Given the description of an element on the screen output the (x, y) to click on. 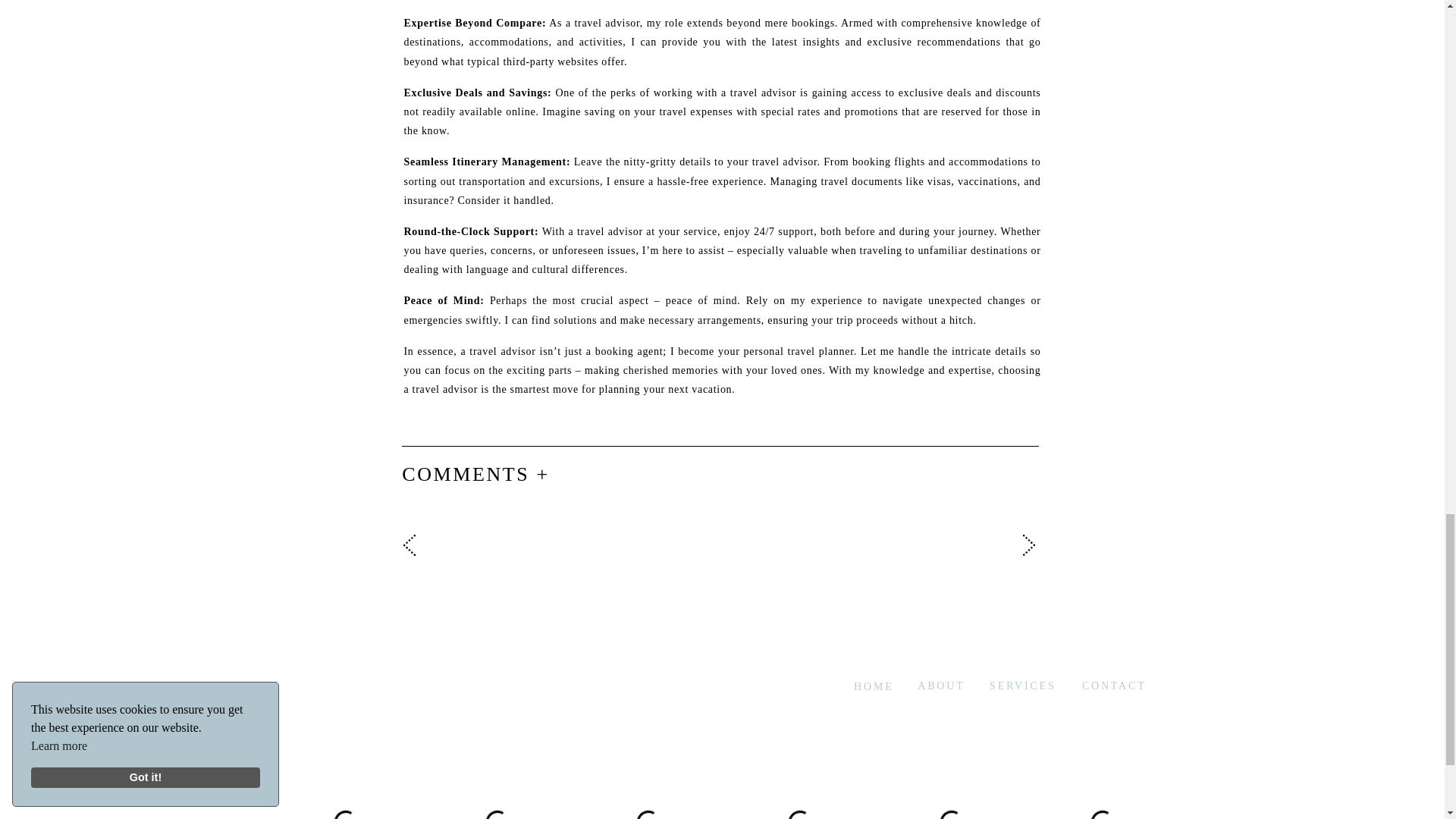
HOME (854, 684)
SERVICES (1017, 683)
CONTACT (1108, 683)
ABOUT (925, 683)
